Given the description of an element on the screen output the (x, y) to click on. 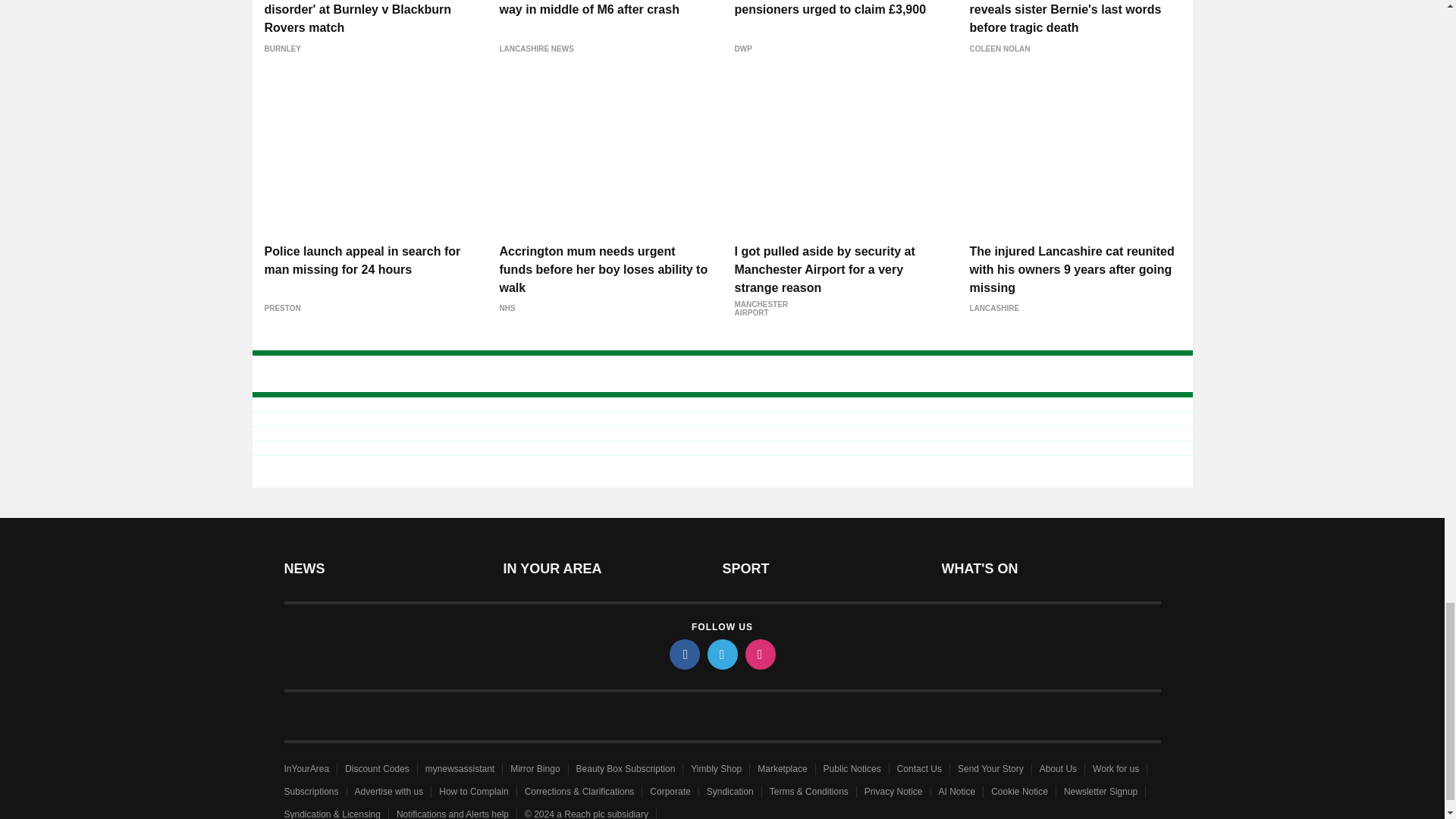
instagram (759, 654)
twitter (721, 654)
facebook (683, 654)
